Given the description of an element on the screen output the (x, y) to click on. 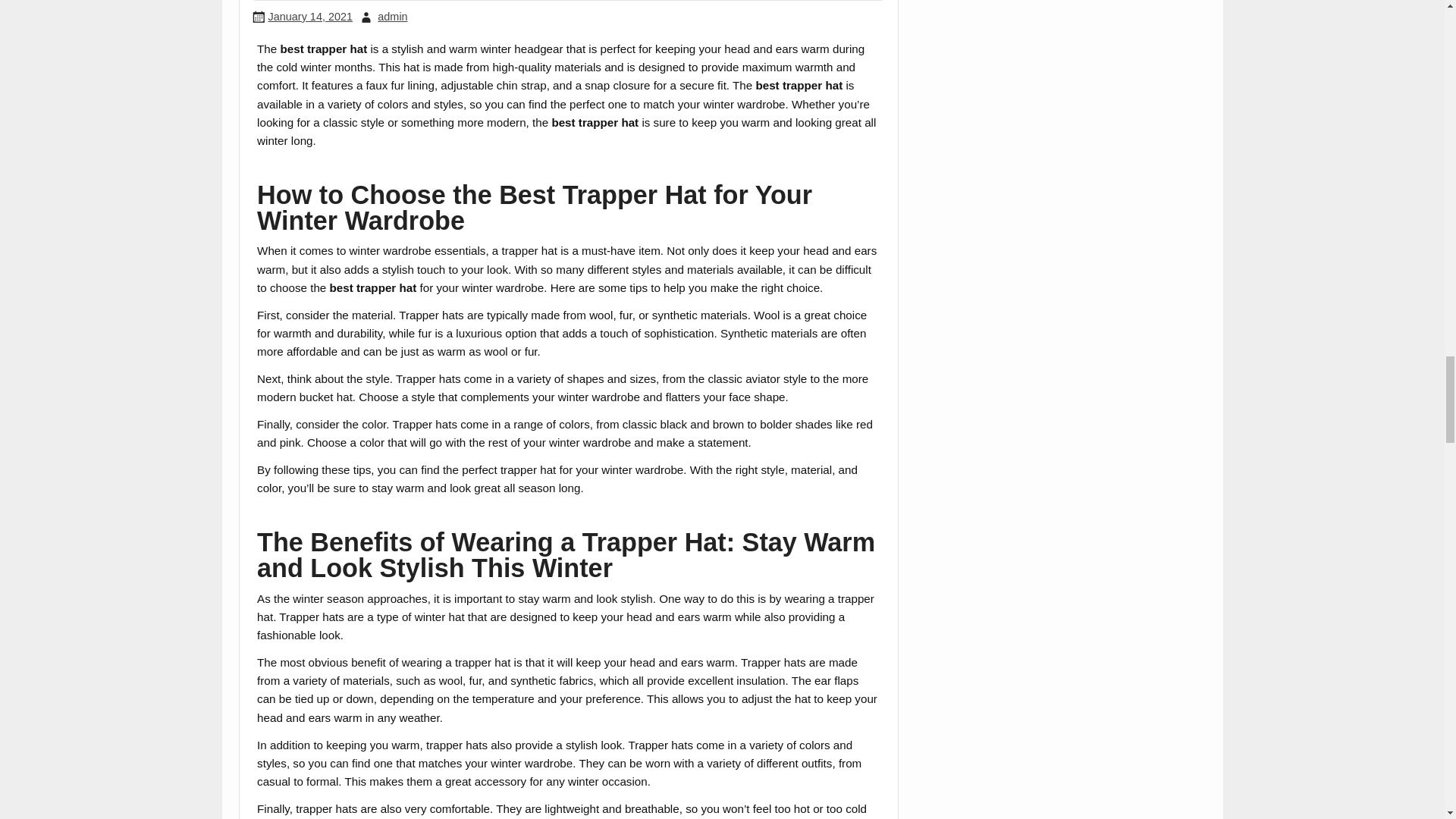
January 14, 2021 (309, 16)
admin (392, 16)
View all posts by admin (392, 16)
3:06 am (309, 16)
